Given the description of an element on the screen output the (x, y) to click on. 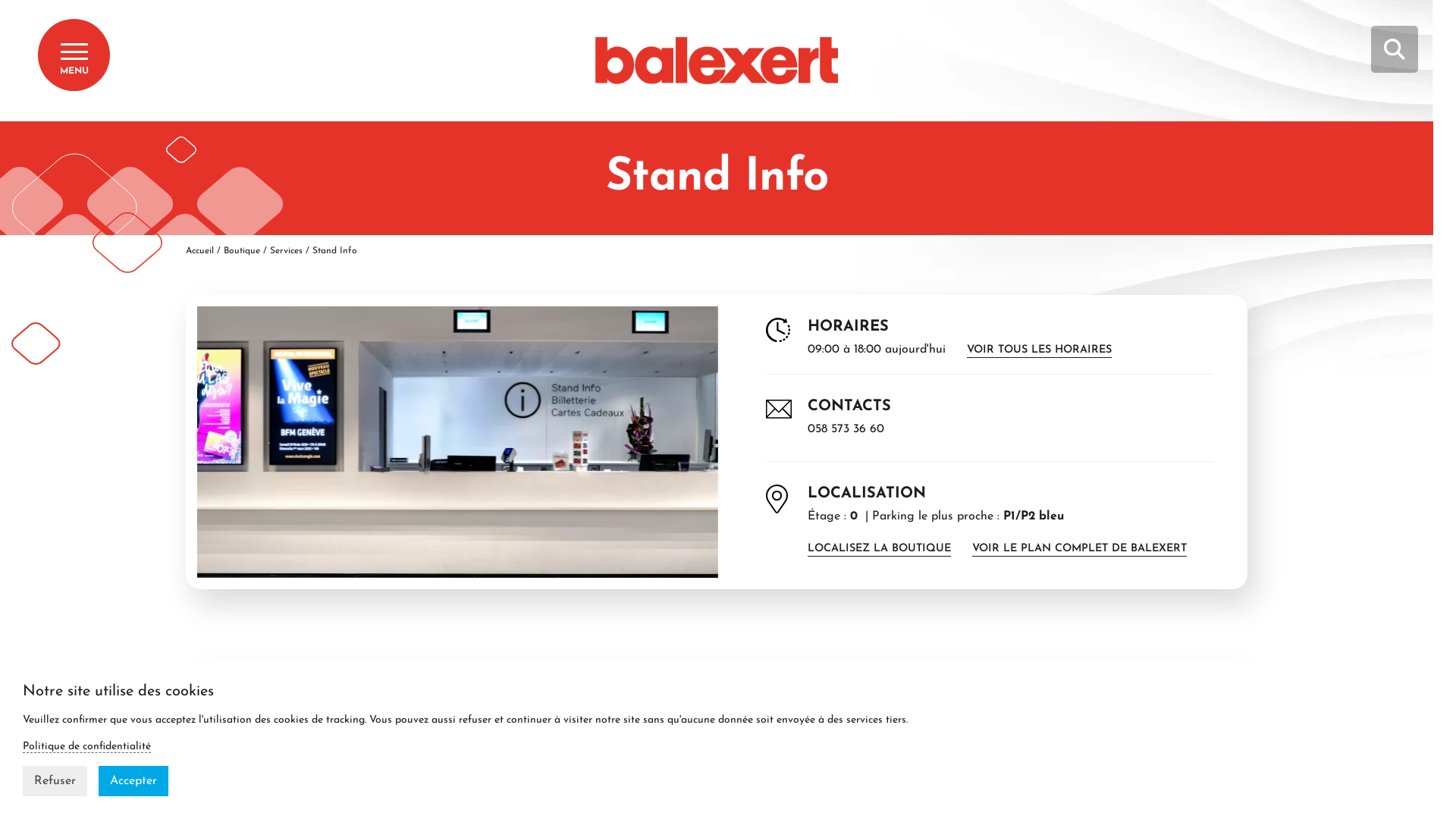
Refuser Element type: text (54, 780)
LOCALISEZ LA BOUTIQUE Element type: text (878, 548)
Accueil Element type: text (199, 250)
Services Element type: text (285, 250)
Accepter Element type: text (133, 780)
058 573 36 60 Element type: text (845, 429)
VOIR TOUS LES HORAIRES Element type: text (1038, 350)
VOIR LE PLAN COMPLET DE BALEXERT Element type: text (1079, 548)
MENU Element type: text (73, 54)
Boutique Element type: text (241, 250)
